Given the description of an element on the screen output the (x, y) to click on. 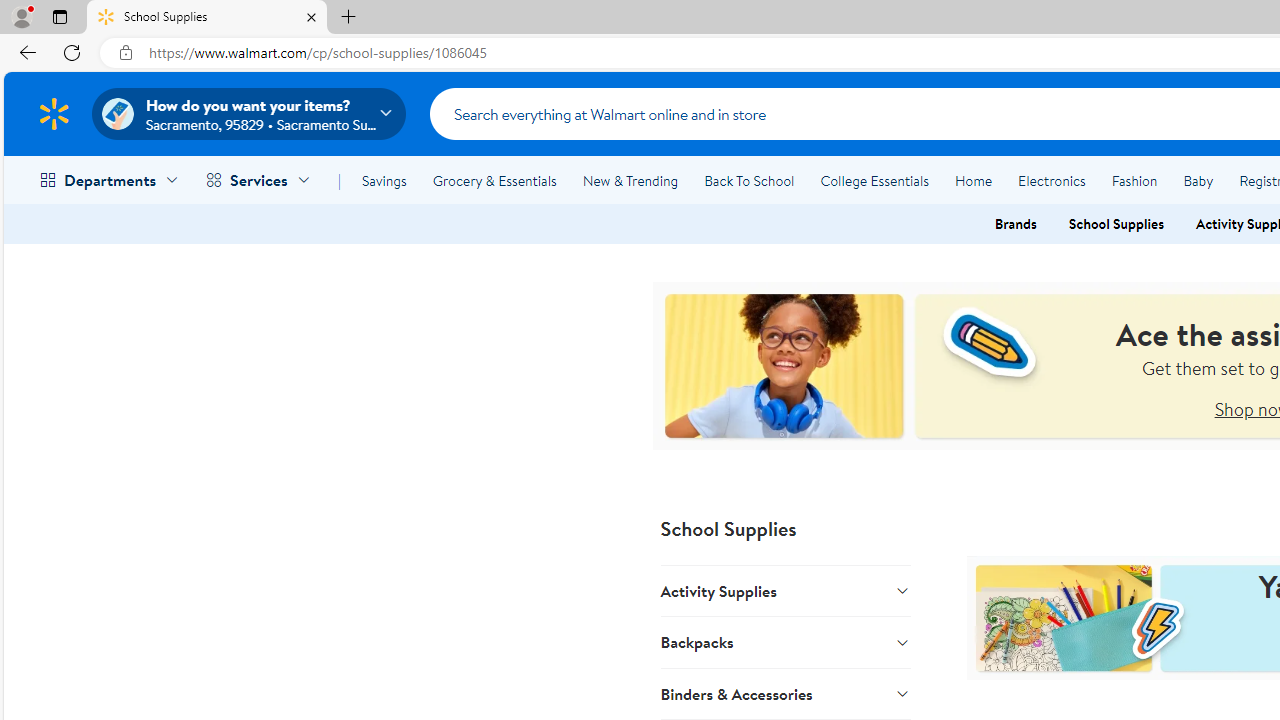
Electronics (1051, 180)
College Essentials (874, 180)
Grocery & Essentials (493, 180)
New & Trending (630, 180)
Back To School (749, 180)
Back To School (749, 180)
Fashion (1134, 180)
New & Trending (630, 180)
Savings (384, 180)
College Essentials (874, 180)
